Given the description of an element on the screen output the (x, y) to click on. 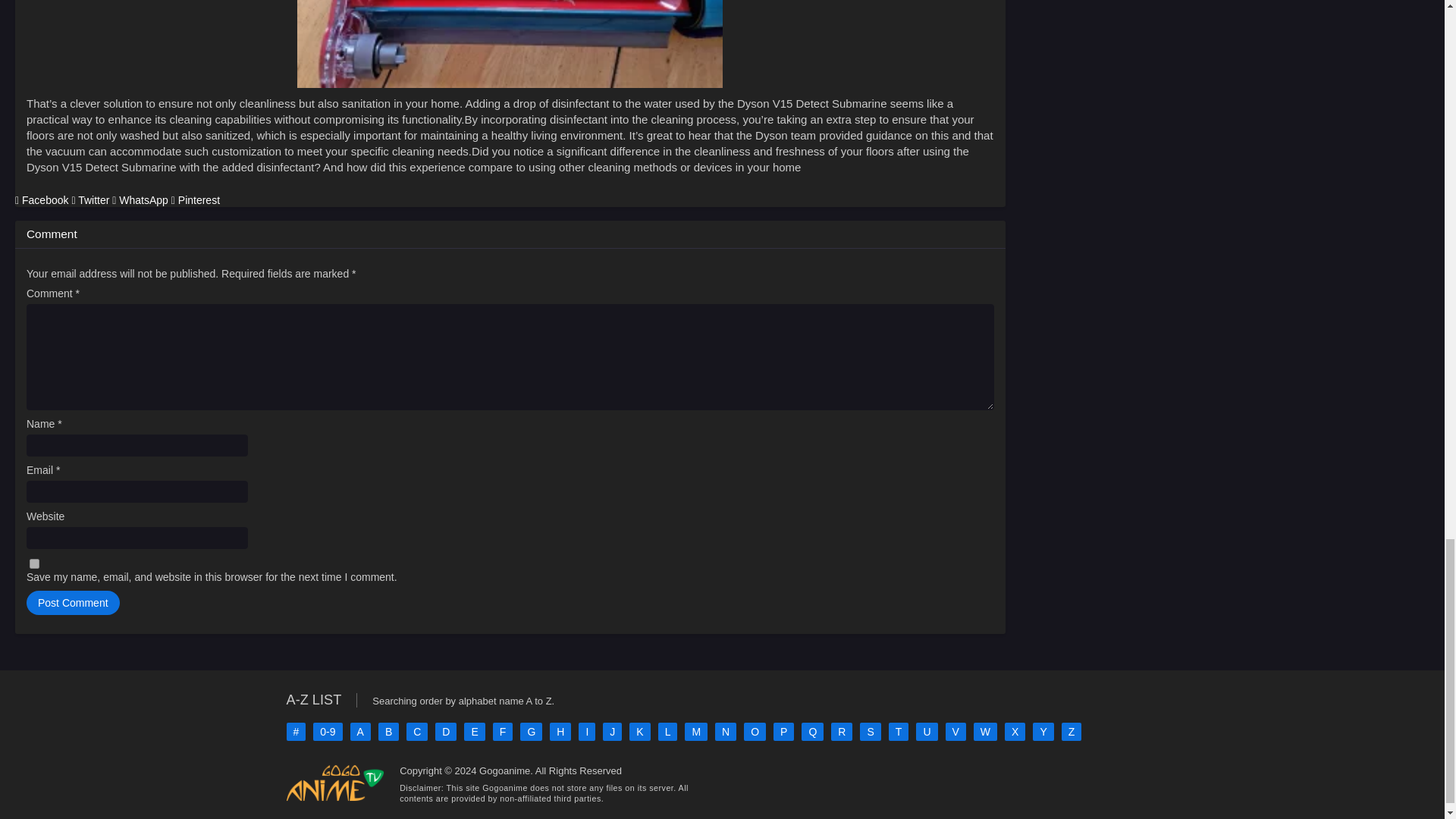
WhatsApp (141, 200)
yes (34, 563)
Twitter (91, 200)
Post Comment (72, 602)
Pinterest (195, 200)
Facebook (42, 200)
Post Comment (72, 602)
